Given the description of an element on the screen output the (x, y) to click on. 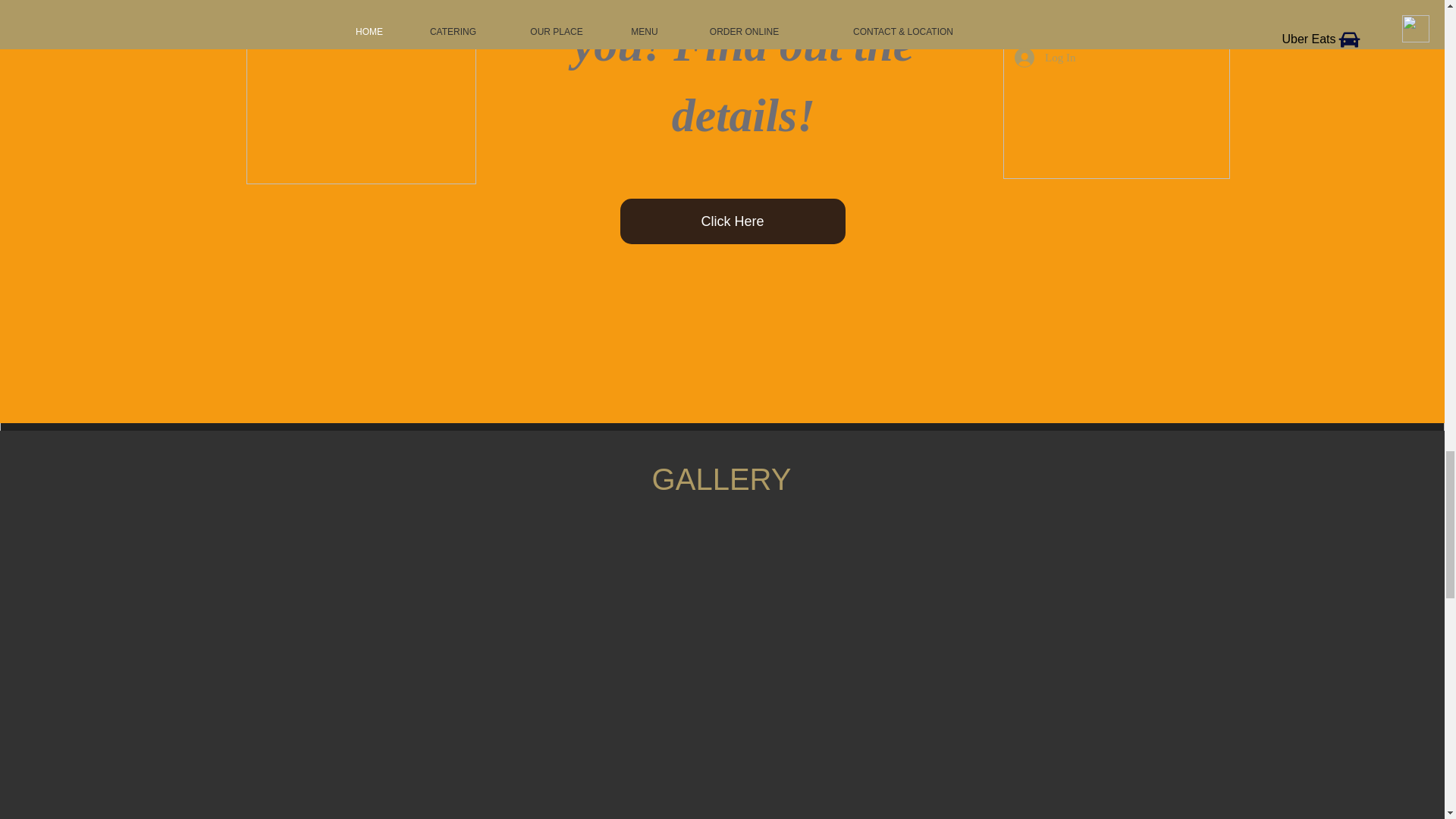
Click Here (732, 221)
